Given the description of an element on the screen output the (x, y) to click on. 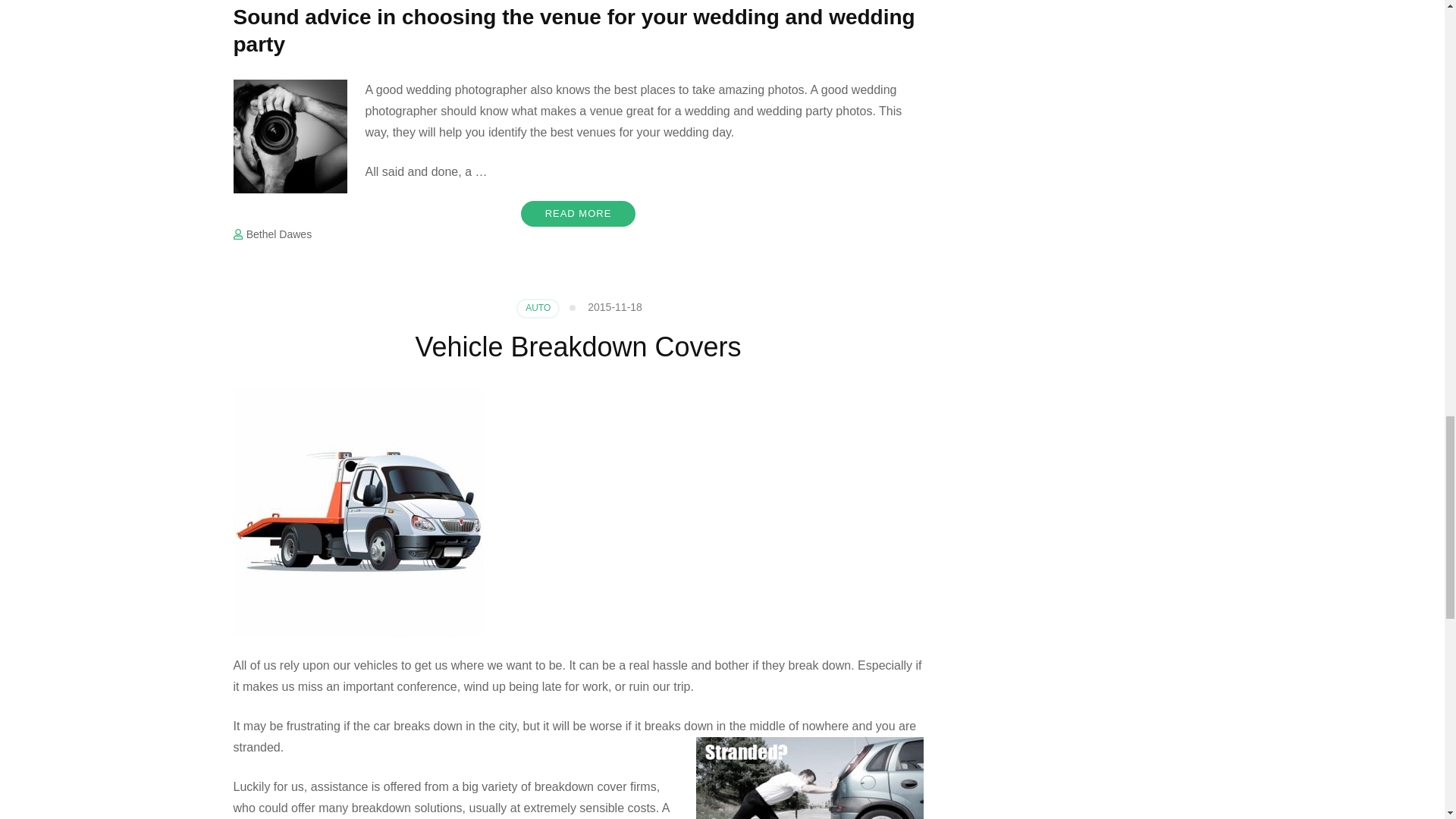
2015-11-18 (615, 306)
Bethel Dawes (278, 234)
AUTO (537, 308)
READ MORE (578, 213)
Vehicle Breakdown Covers (577, 346)
